Given the description of an element on the screen output the (x, y) to click on. 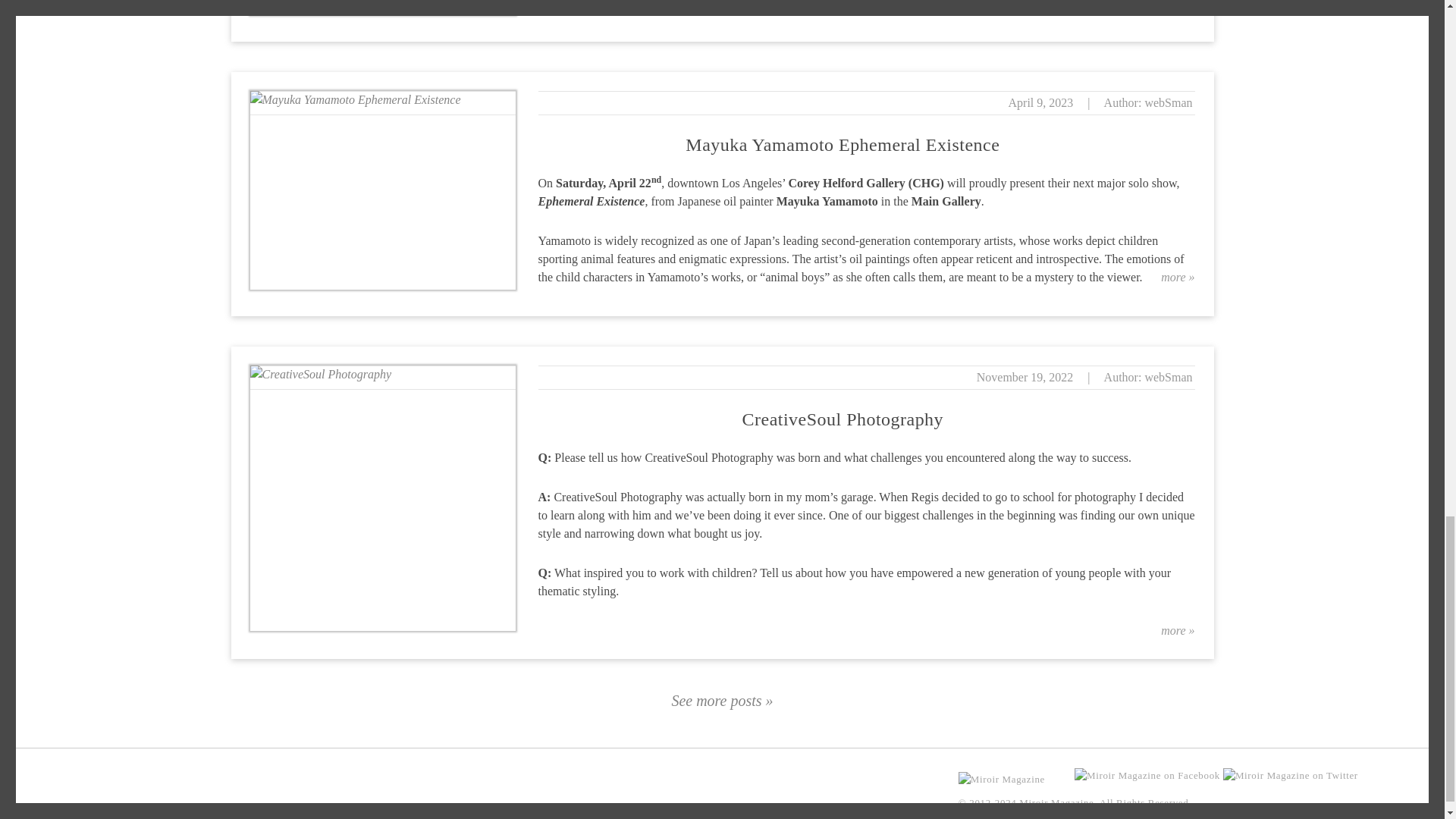
Miroir Magazine. (1059, 802)
CreativeSoul Photography (842, 419)
Mayuka Yamamoto Ephemeral Existence (841, 144)
